Given the description of an element on the screen output the (x, y) to click on. 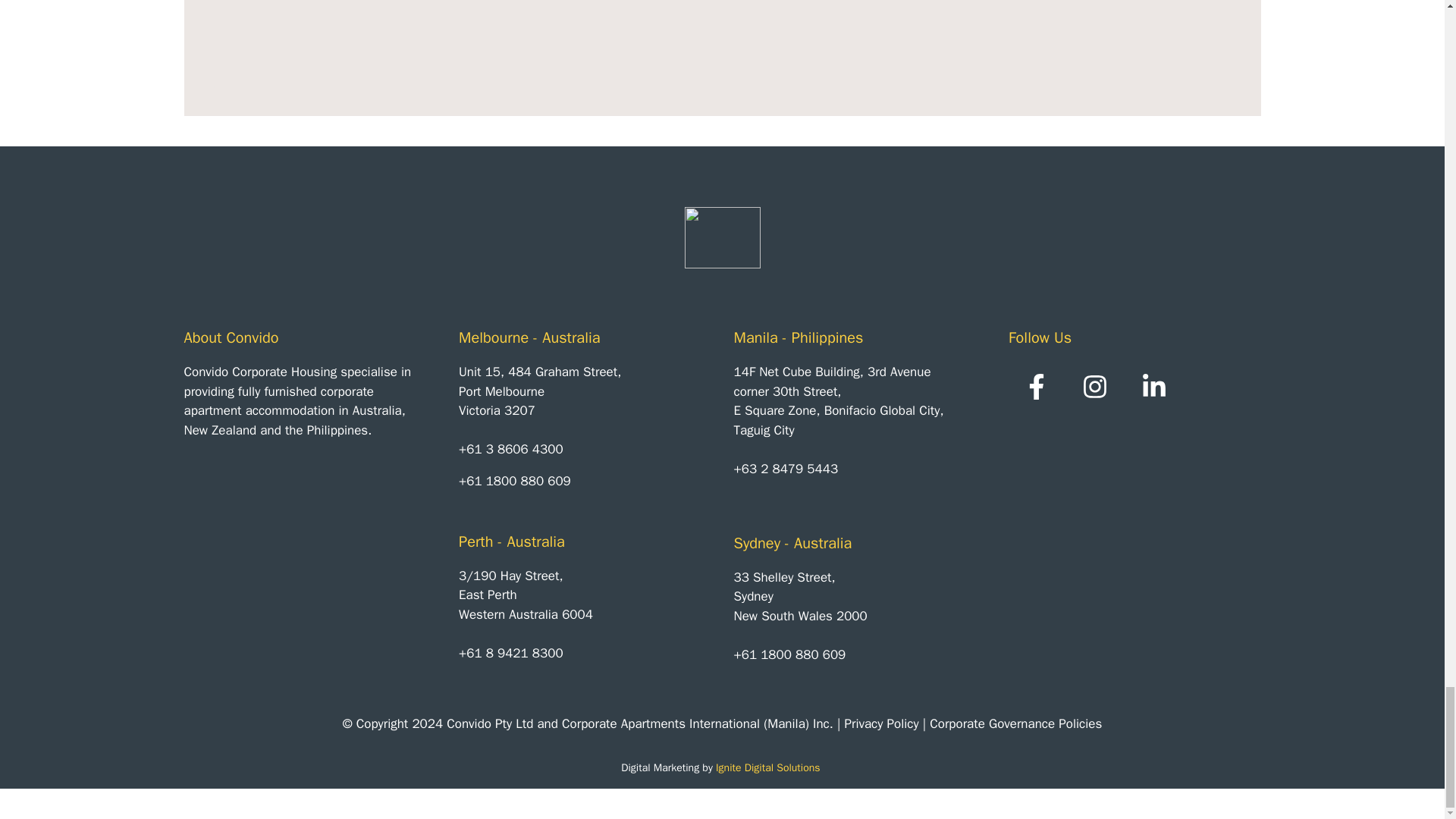
asap-member-logo (818, 803)
CHPA (625, 803)
temi-logo (1012, 803)
worldwide-erc-member-logo (431, 803)
